Given the description of an element on the screen output the (x, y) to click on. 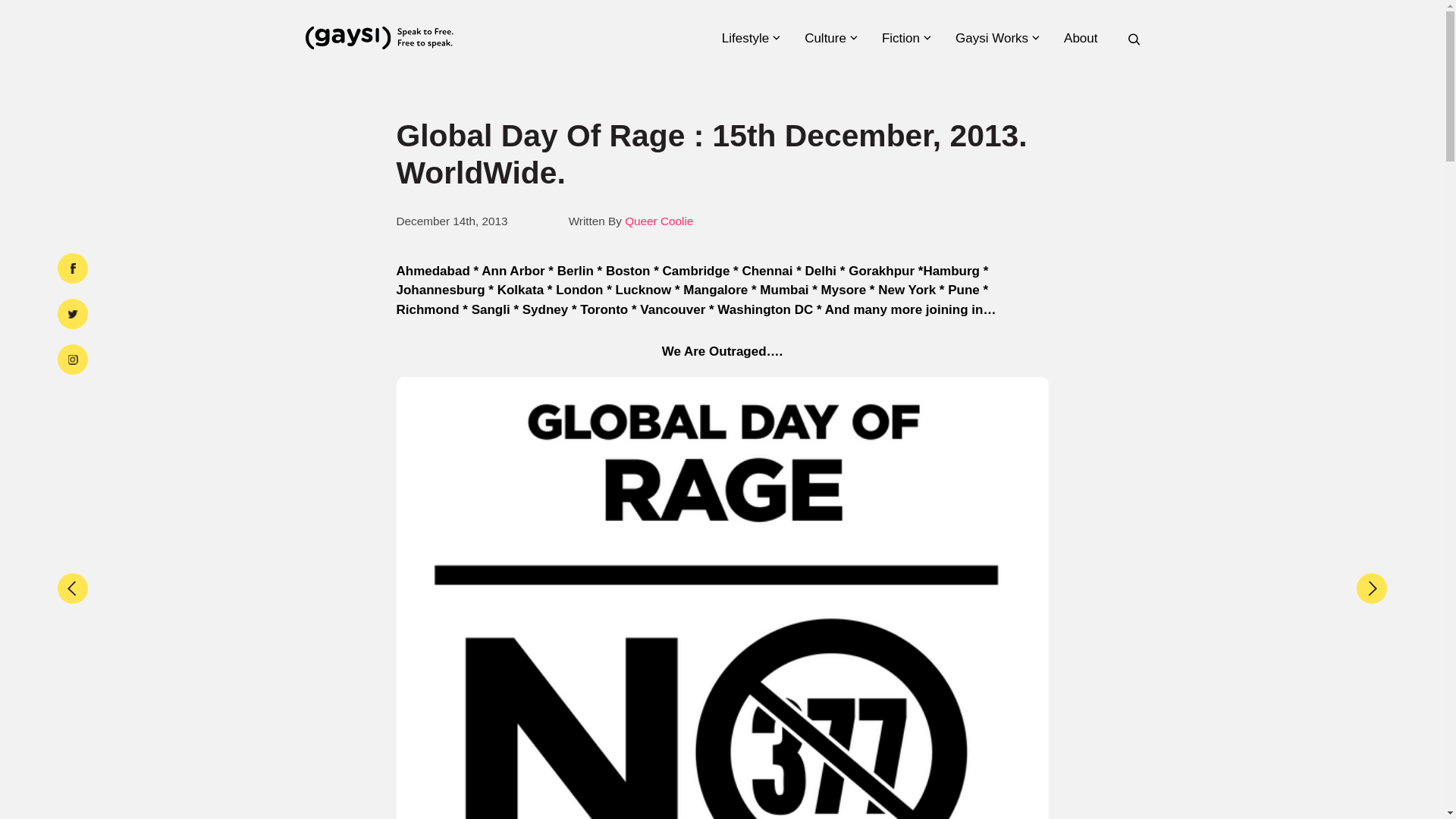
Fiction (905, 38)
About (1085, 38)
Search (1122, 414)
Culture (830, 38)
Gaysi Works (996, 38)
Click to share this post on Twitter (72, 313)
Lifestyle (750, 38)
